Given the description of an element on the screen output the (x, y) to click on. 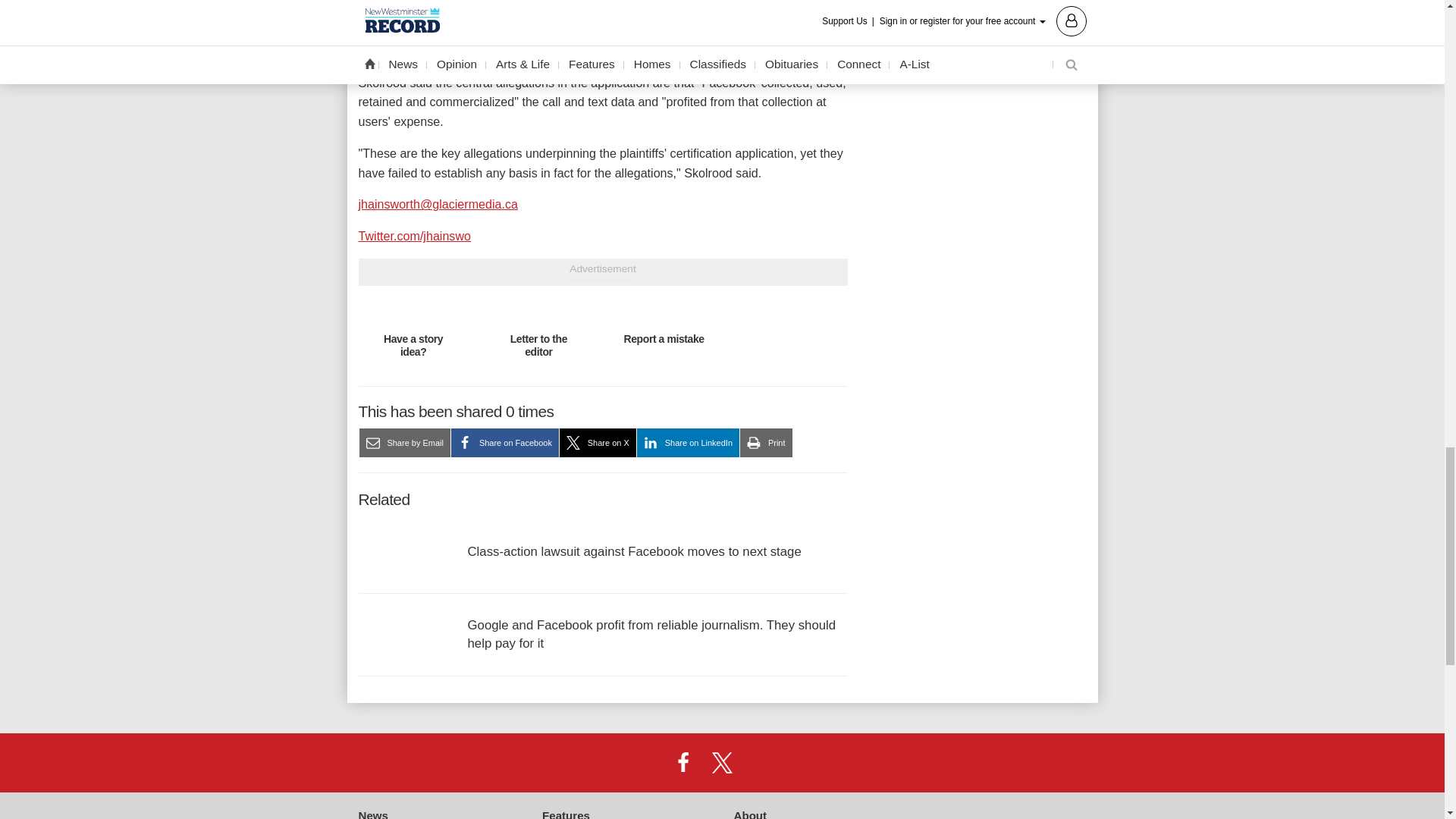
Facebook (683, 761)
X (721, 761)
Instagram (760, 761)
